Given the description of an element on the screen output the (x, y) to click on. 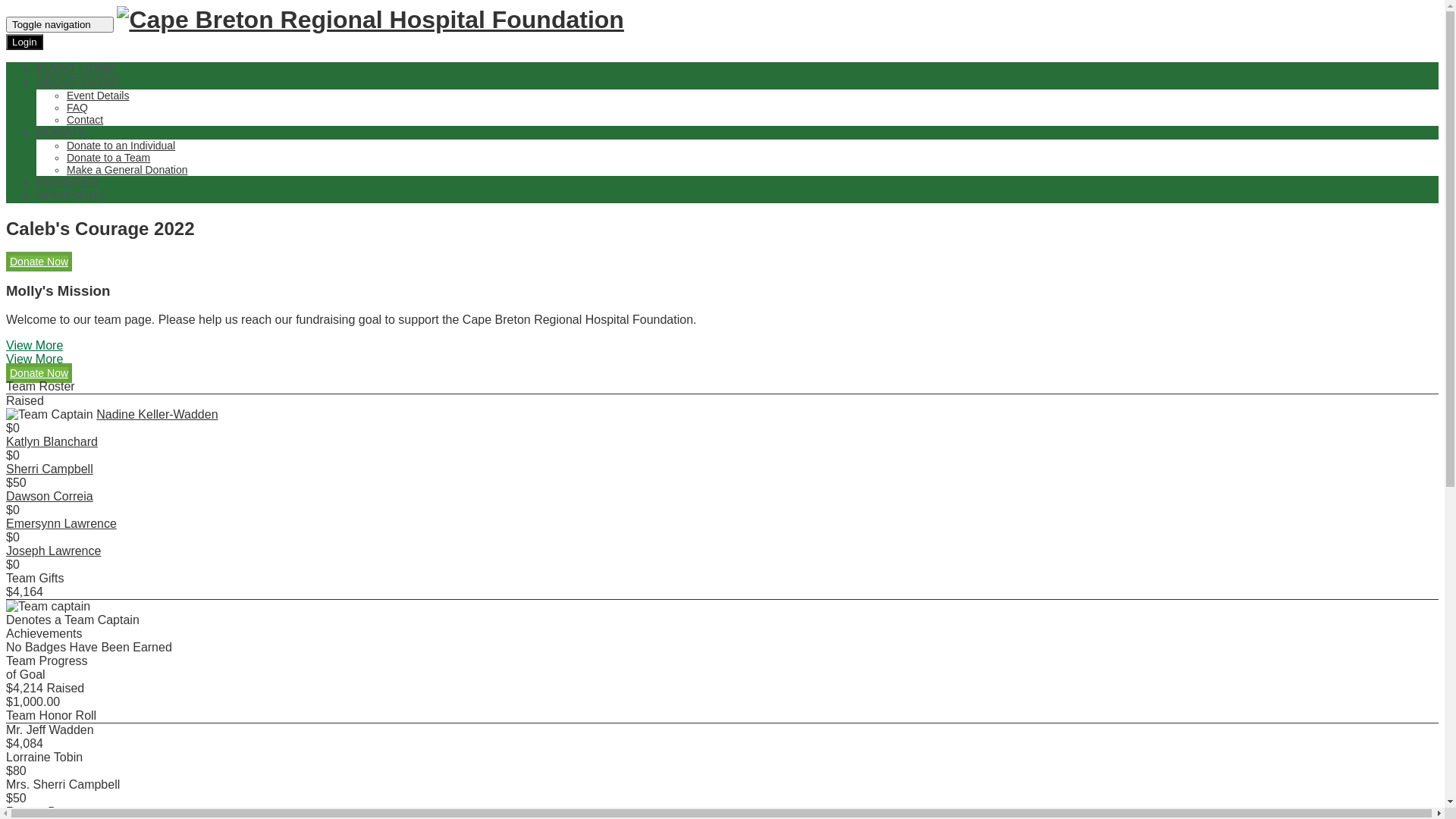
Emersynn Lawrence Element type: text (61, 523)
Donate to a Team Element type: text (108, 157)
Contact Element type: text (84, 119)
DONATE Element type: text (60, 131)
EVENT HOME Element type: text (76, 68)
Sherri Campbell Element type: text (49, 468)
Cape Breton Regional Hospital Foundation Element type: hover (369, 19)
Katlyn Blanchard Element type: text (51, 441)
Login Element type: text (24, 42)
ABOUT EVENT Element type: text (79, 81)
FAQ Element type: text (76, 107)
Make a General Donation Element type: text (127, 169)
Donate Now Element type: text (39, 372)
View More Element type: text (34, 344)
SPONSORS Element type: text (70, 195)
Dawson Correia Element type: text (49, 495)
Donate Now Element type: text (39, 261)
Event Details Element type: text (97, 95)
Toggle navigation       Element type: text (59, 24)
Donate to an Individual Element type: text (120, 145)
Joseph Lawrence Element type: text (53, 550)
REGISTER Element type: text (67, 181)
Nadine Keller-Wadden Element type: text (156, 413)
View More Element type: text (34, 358)
